Given the description of an element on the screen output the (x, y) to click on. 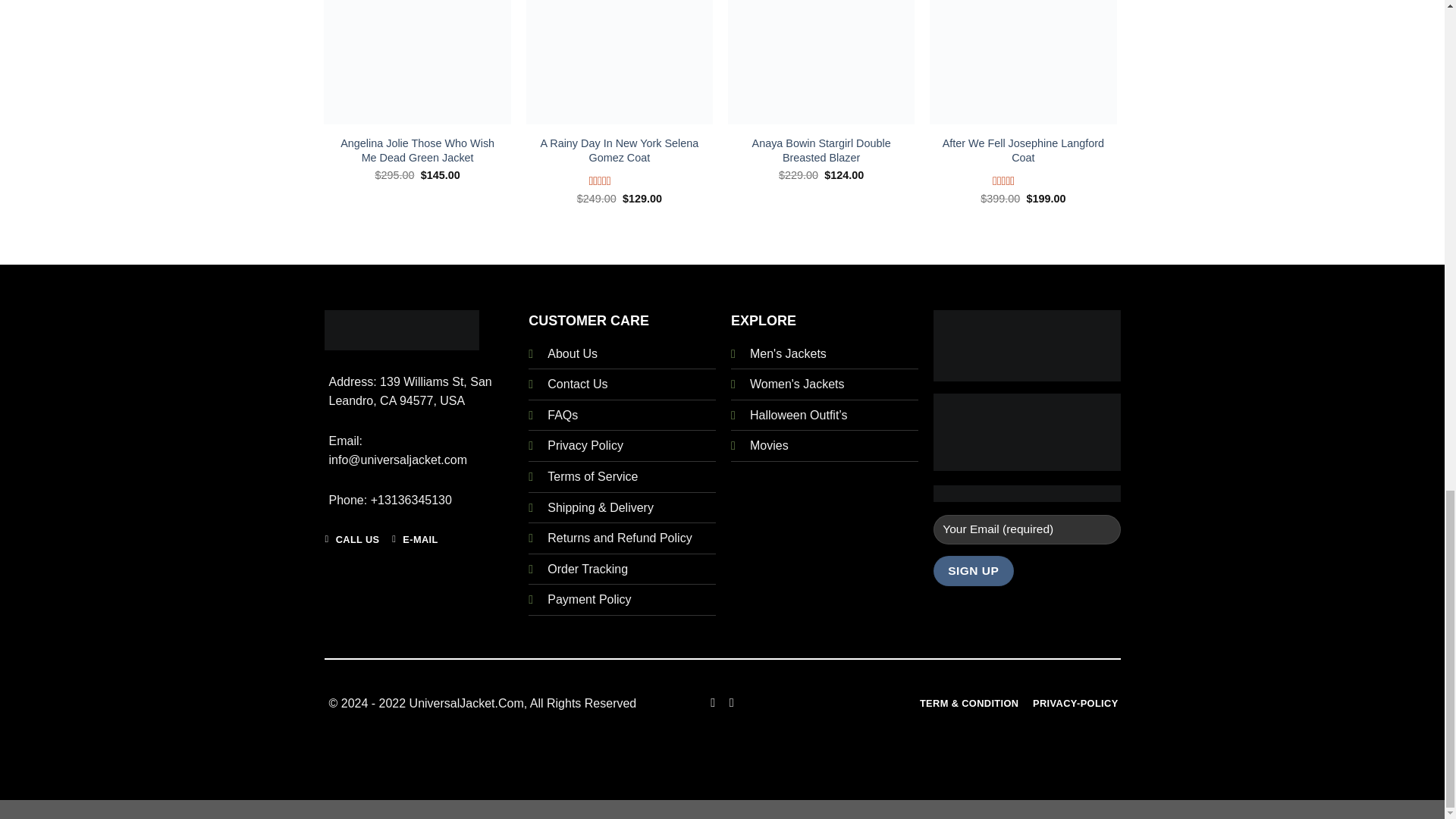
Sign Up (973, 570)
